Given the description of an element on the screen output the (x, y) to click on. 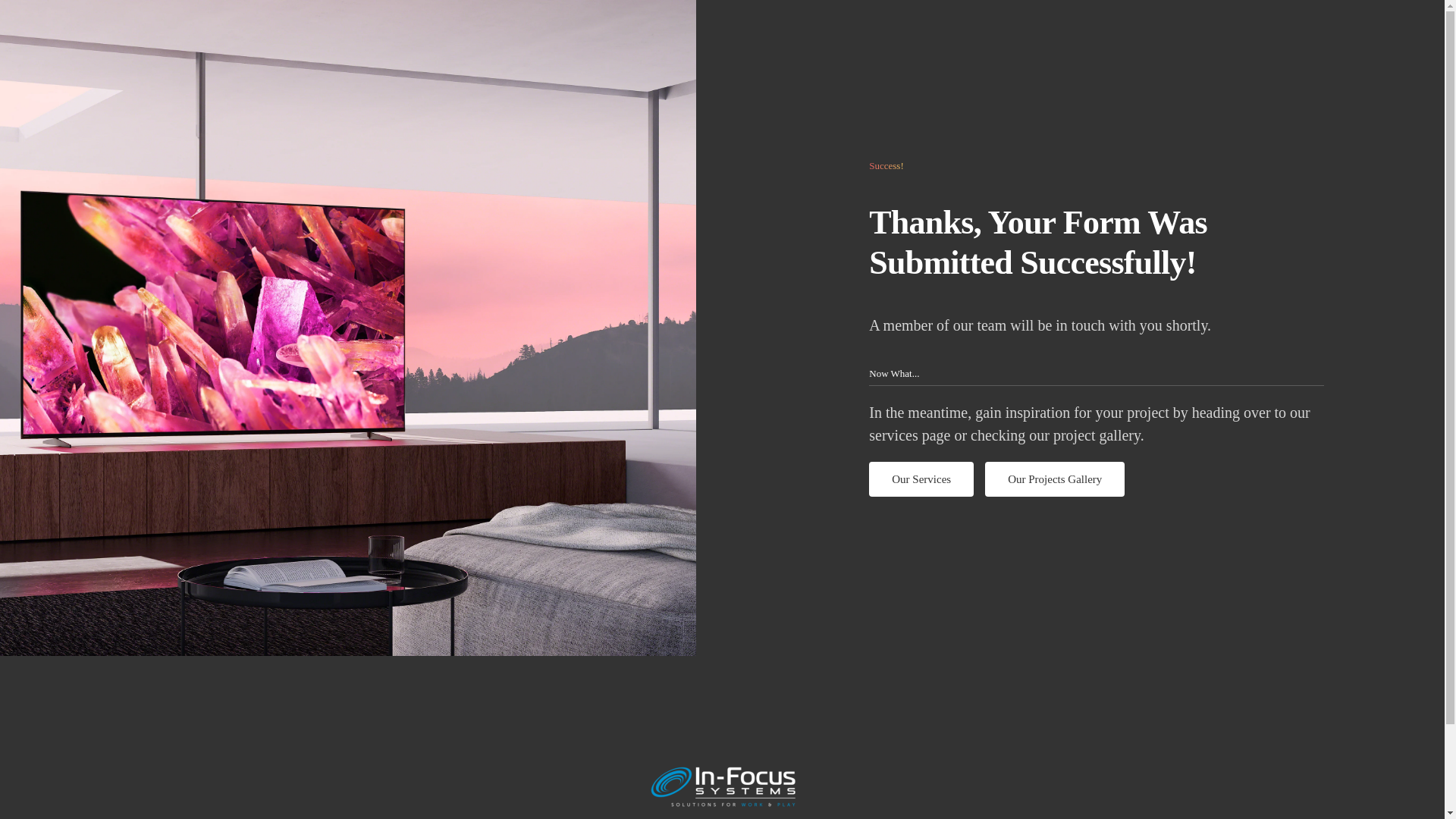
Our Services (921, 478)
Now What... (1096, 375)
Success! (1096, 165)
Our Projects Gallery (1054, 478)
A member of our team will be in touch with you shortly. (1096, 324)
Thanks, Your Form Was Submitted Successfully! (1096, 478)
